Given the description of an element on the screen output the (x, y) to click on. 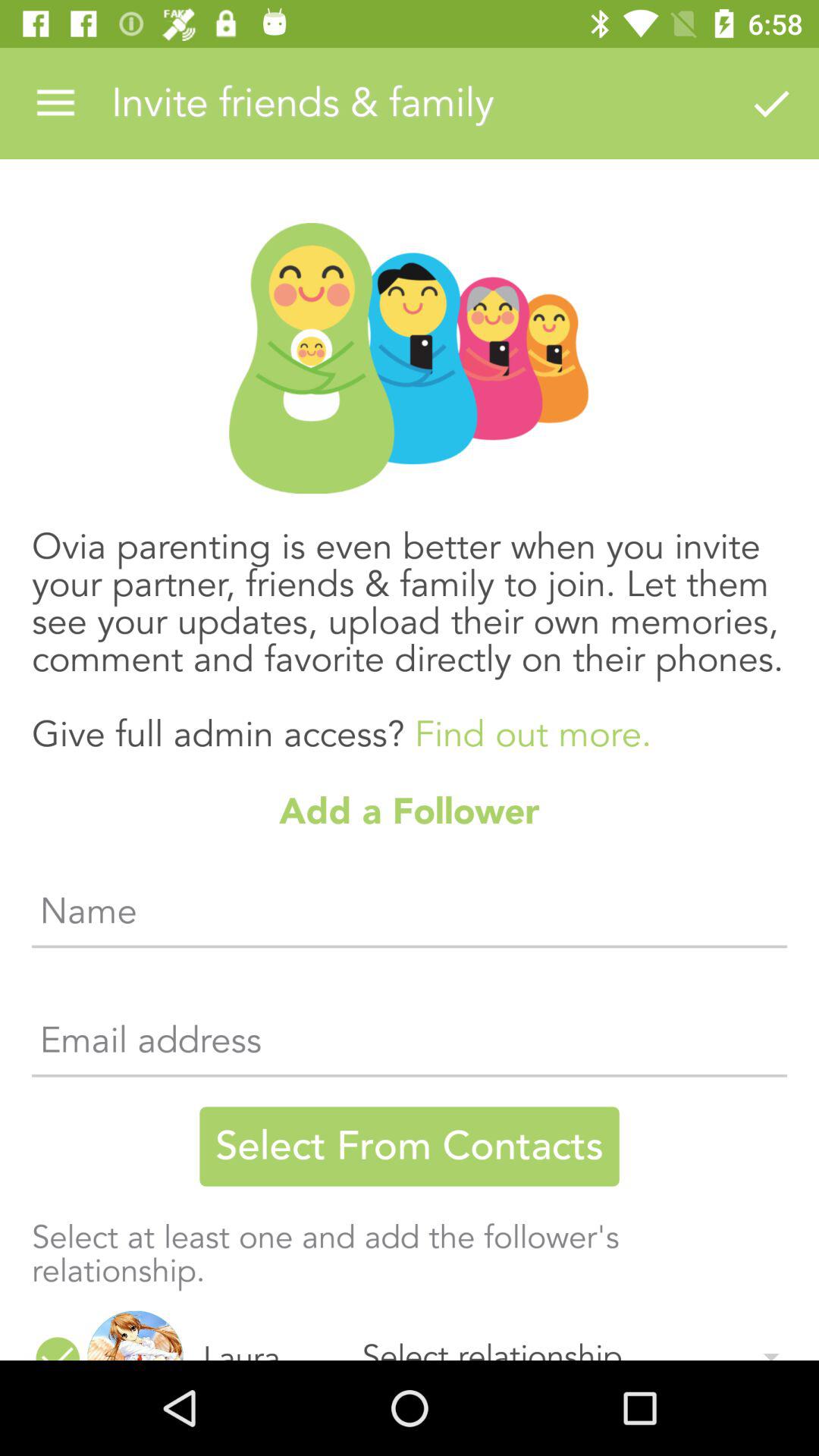
open the item below add a follower item (409, 916)
